Given the description of an element on the screen output the (x, y) to click on. 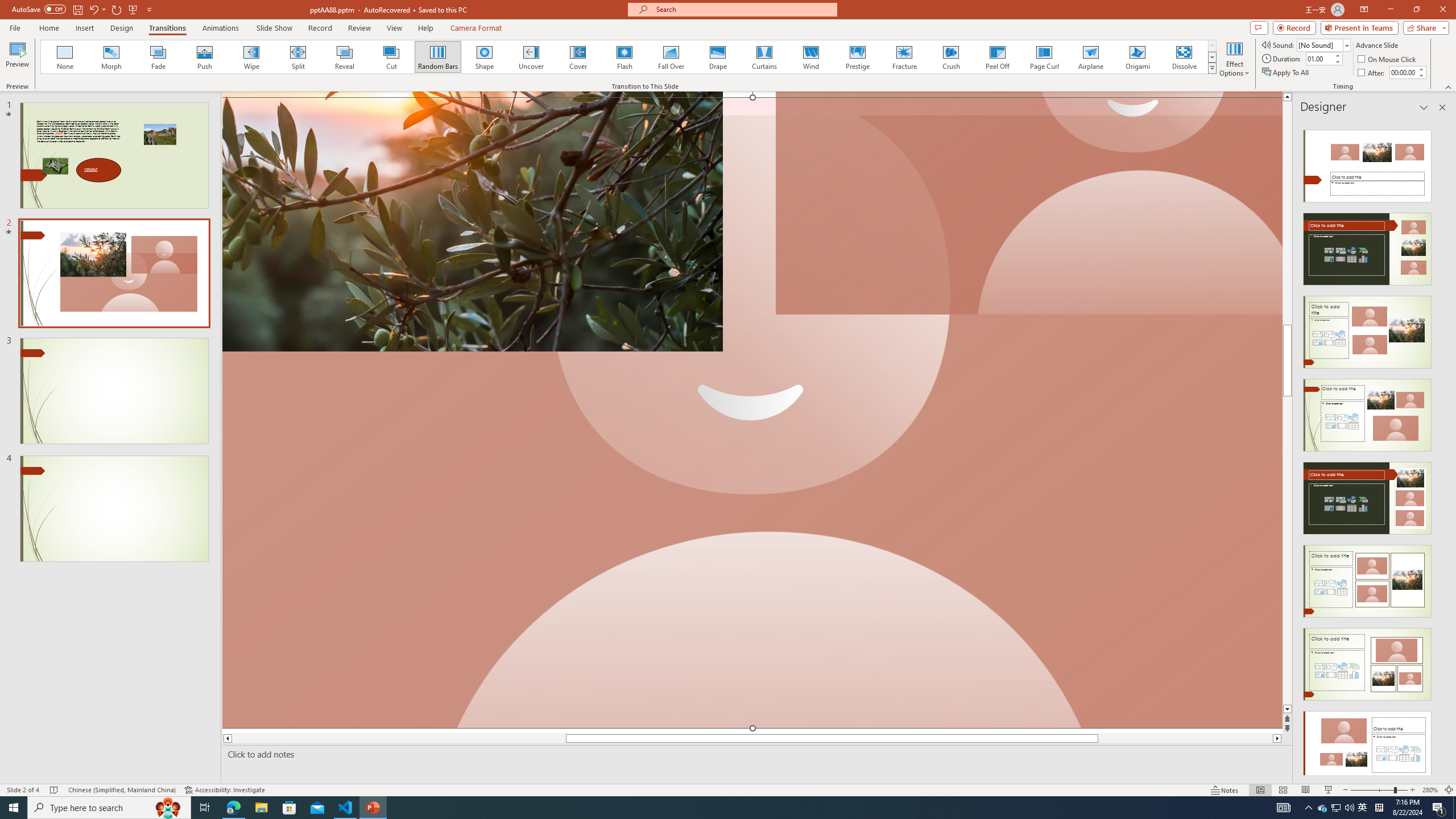
Morph (111, 56)
Transition Effects (1212, 67)
Wind (810, 56)
Flash (624, 56)
